Given the description of an element on the screen output the (x, y) to click on. 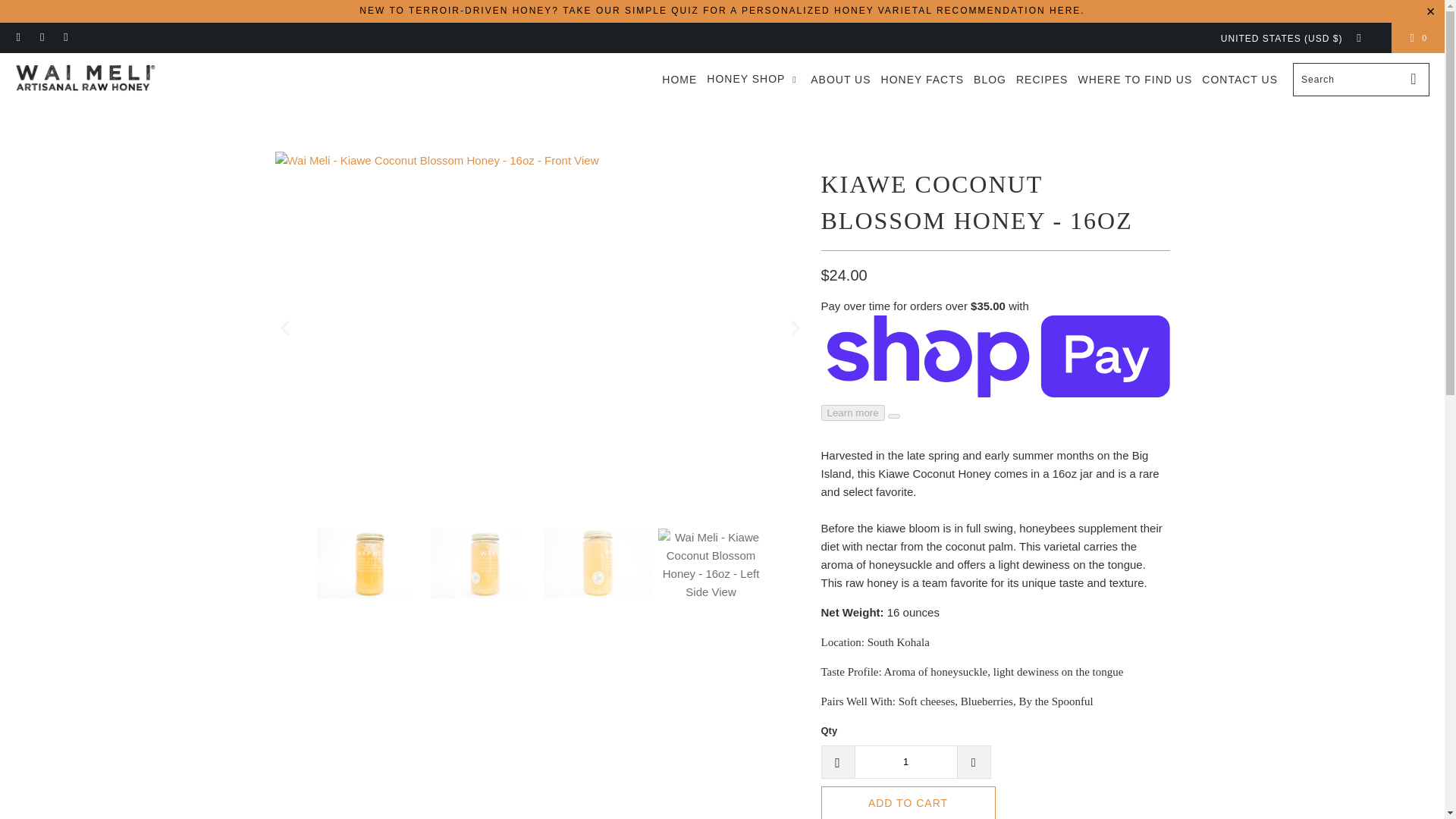
1 (904, 761)
Honey Recommendations (721, 9)
Email Wai Meli  (17, 37)
Wai Meli  on Facebook (41, 37)
Wai Meli  (84, 79)
Wai Meli  on Instagram (65, 37)
